Given the description of an element on the screen output the (x, y) to click on. 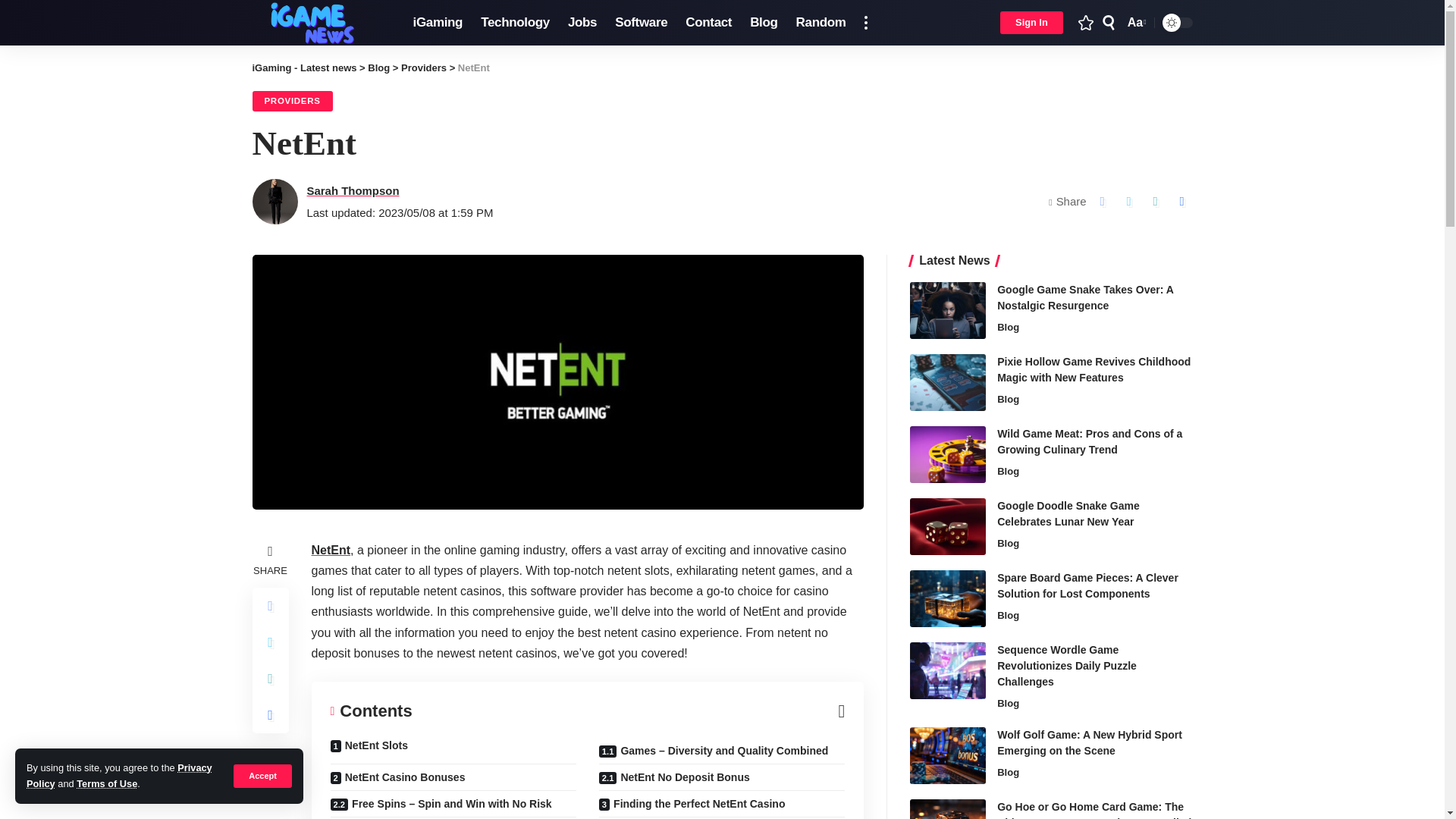
Google Game Snake Takes Over: A Nostalgic Resurgence (947, 310)
Wolf Golf Game: A New Hybrid Sport Emerging on the Scene (947, 755)
Technology (515, 22)
Pixie Hollow Game Revives Childhood Magic with New Features (947, 382)
Accept (262, 775)
iGaming - Latest news (319, 22)
Go to iGaming - Latest news. (303, 67)
iGaming (437, 22)
Terms of Use (106, 783)
